Given the description of an element on the screen output the (x, y) to click on. 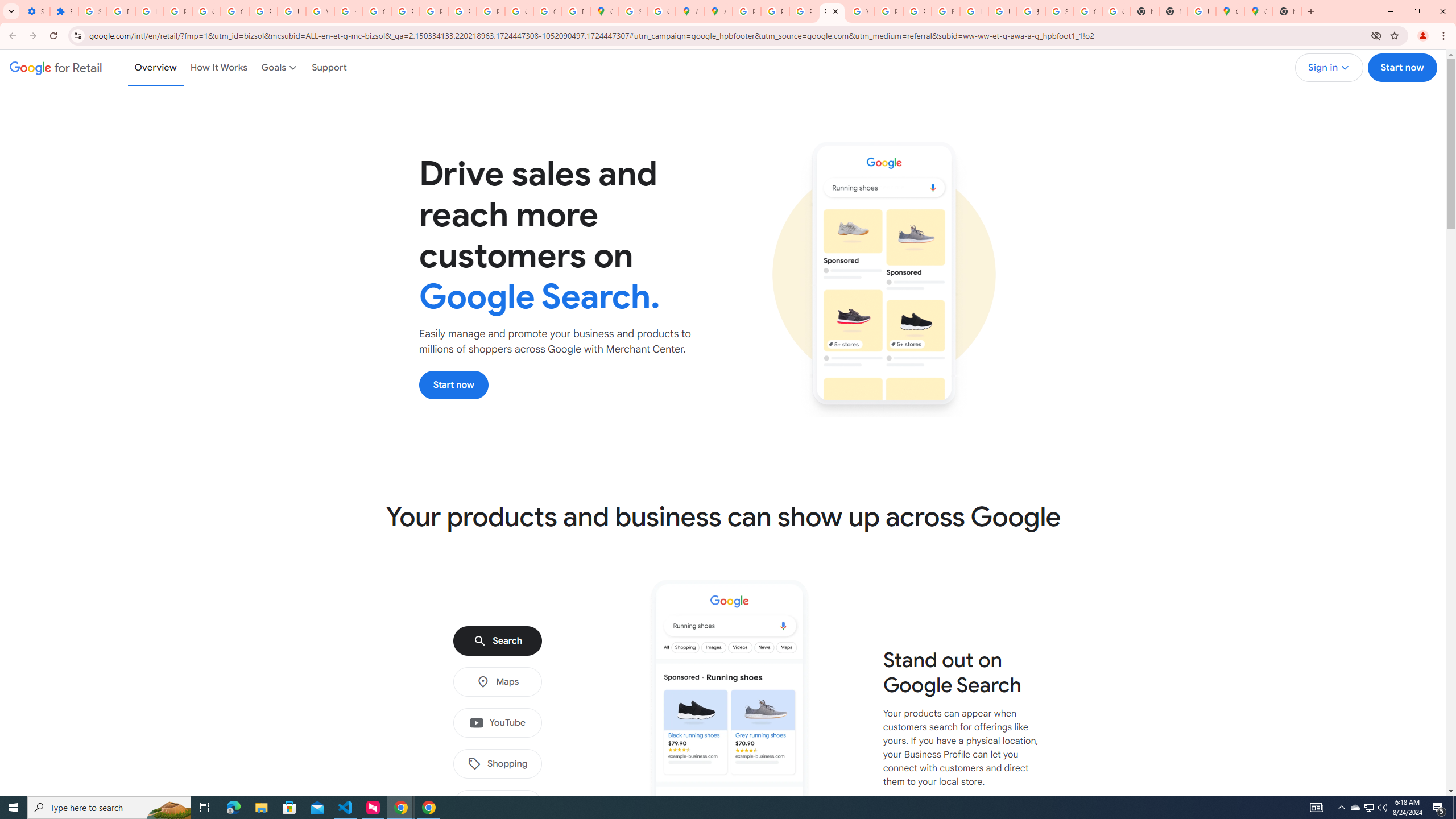
Maps (496, 681)
Support (328, 67)
Sign in - Google Accounts (1058, 11)
YouTube (496, 722)
YouTube (860, 11)
Privacy Help Center - Policies Help (774, 11)
